Given the description of an element on the screen output the (x, y) to click on. 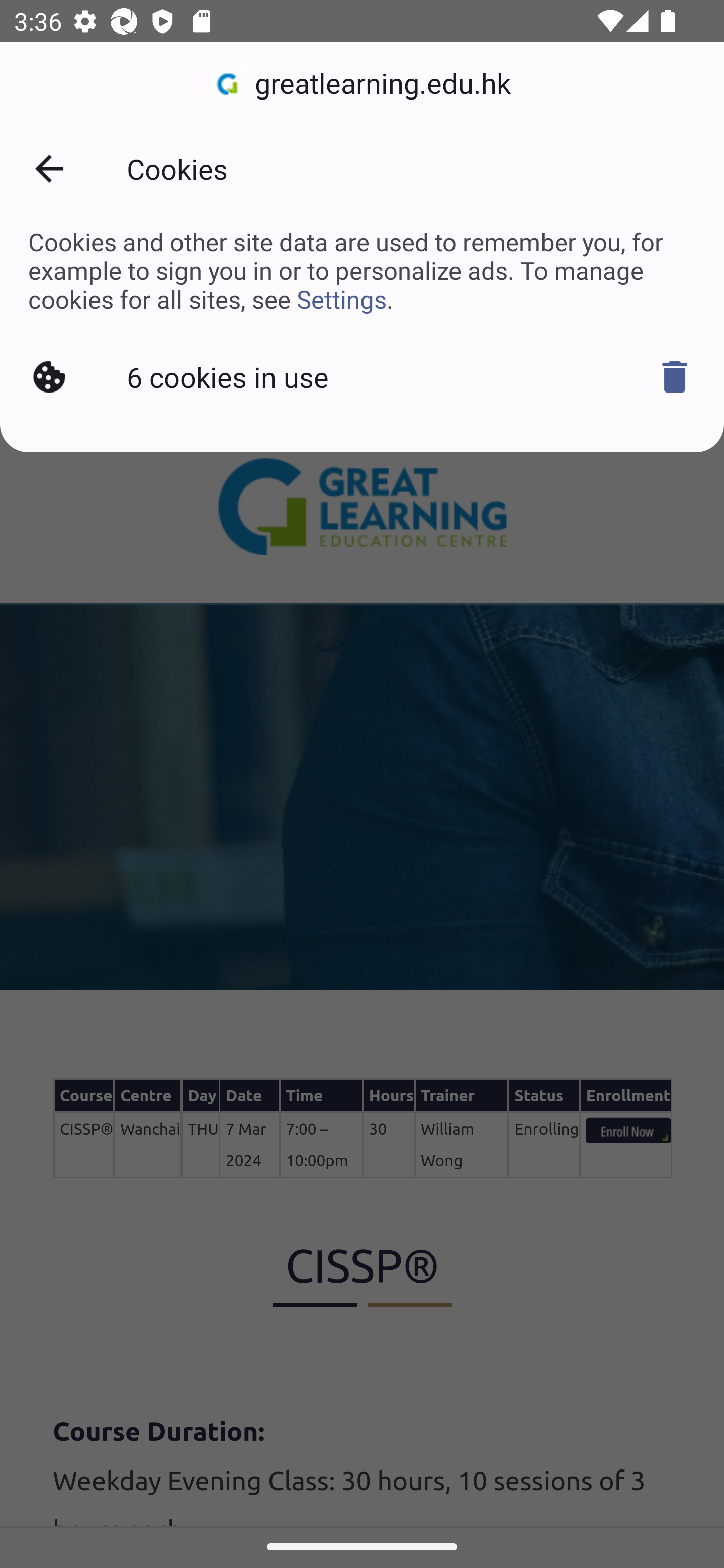
greatlearning.edu.hk (362, 84)
Back (49, 169)
6 cookies in use Clear cookies? (362, 376)
